Given the description of an element on the screen output the (x, y) to click on. 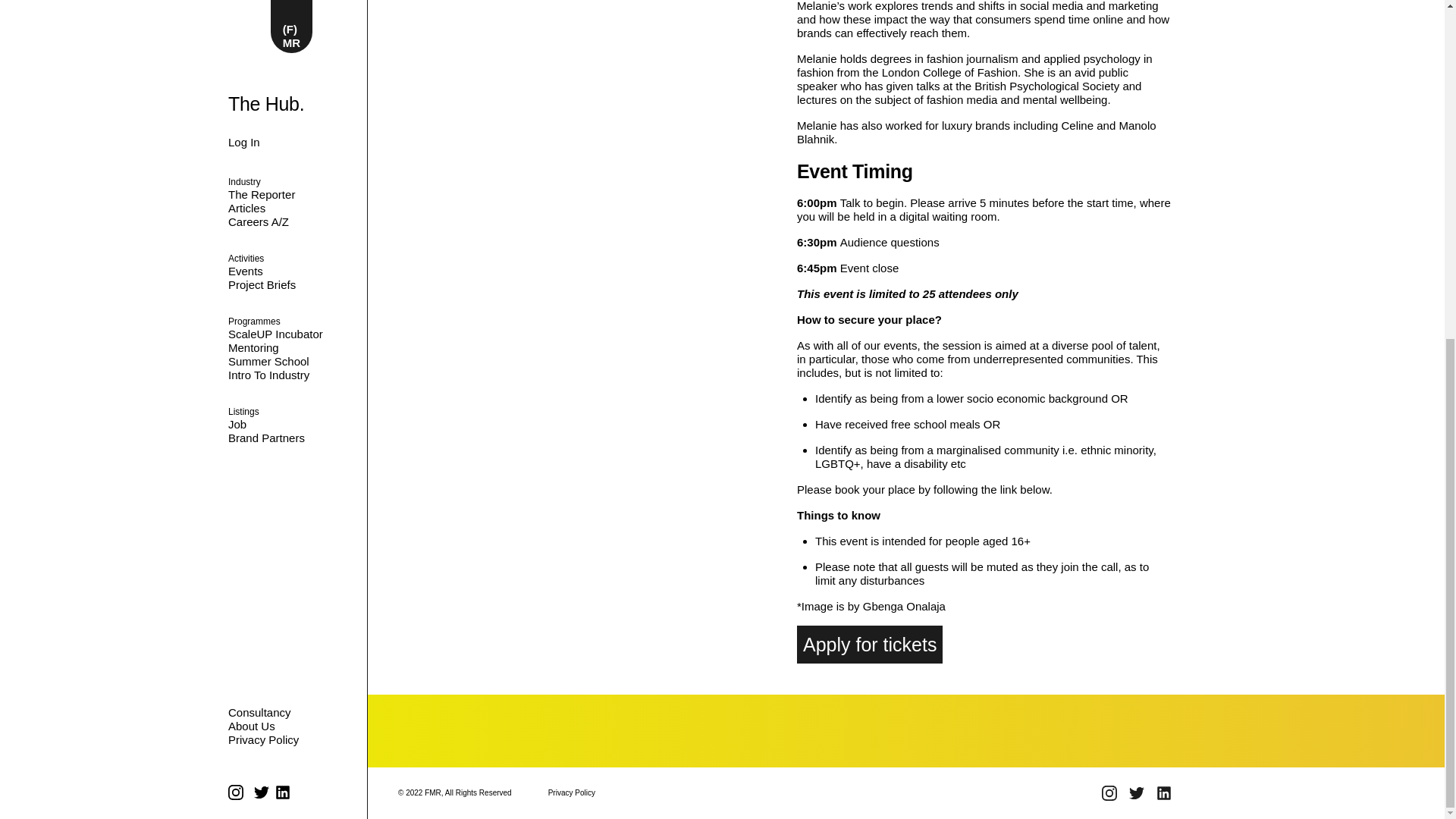
Privacy Policy (291, 198)
About Us (251, 184)
Consultancy (291, 171)
